Given the description of an element on the screen output the (x, y) to click on. 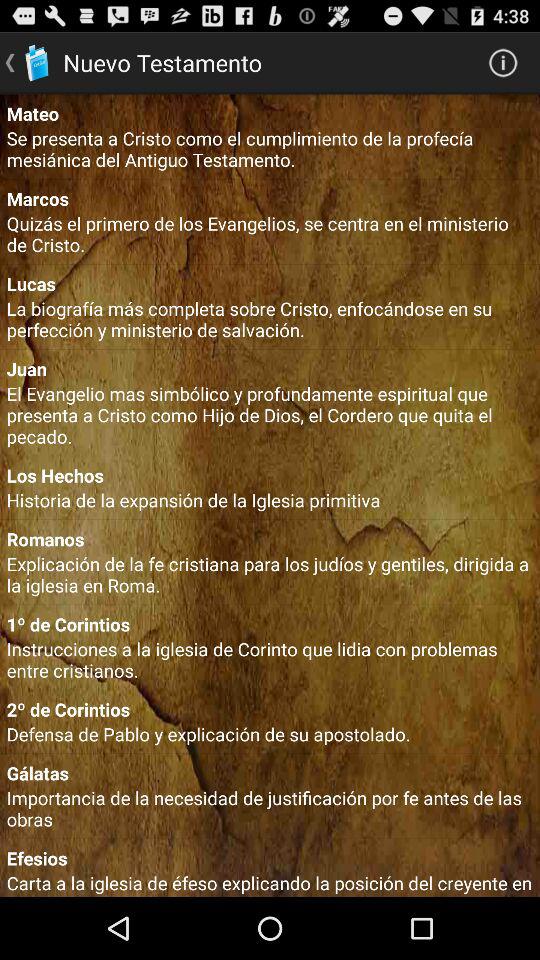
turn on the item below lucas item (269, 319)
